Given the description of an element on the screen output the (x, y) to click on. 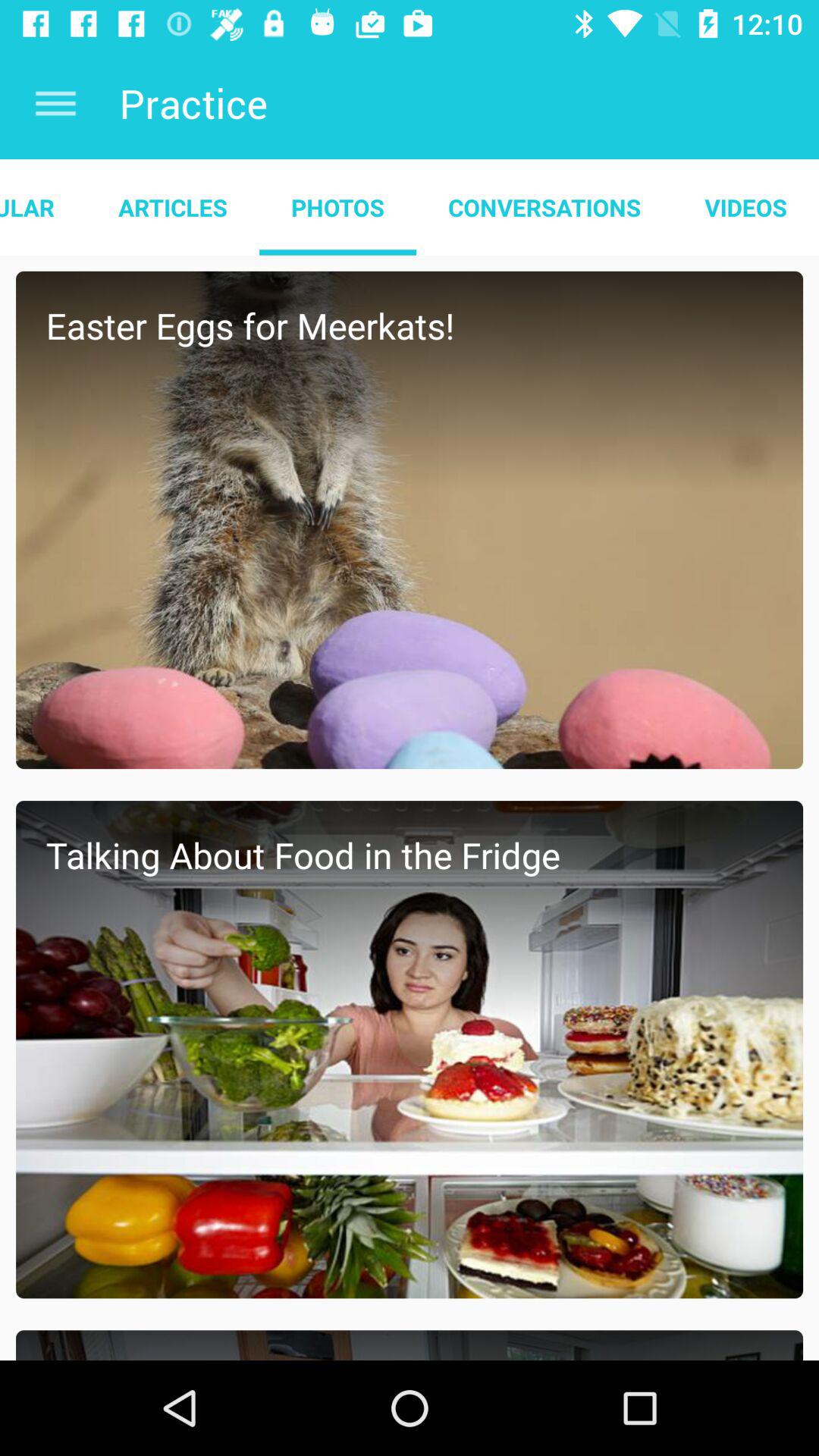
select articles (172, 207)
